Given the description of an element on the screen output the (x, y) to click on. 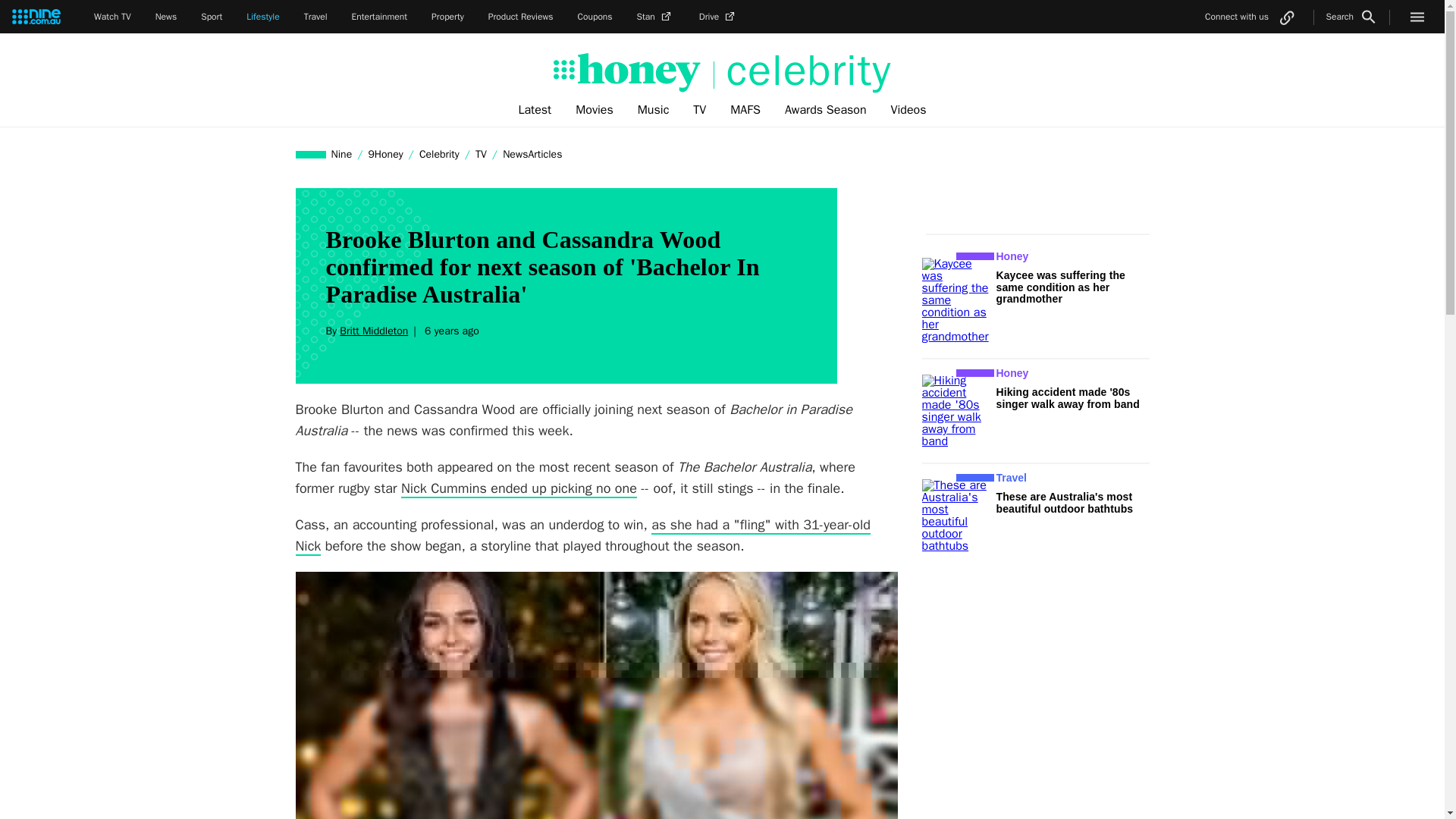
Lifestyle (262, 16)
Music (653, 109)
as she had a  "fling" with 31-year-old Nick (582, 536)
Nick Cummins (443, 488)
ended up picking no one (561, 488)
Britt Middleton (373, 330)
MAFS (745, 109)
NewsArticles (532, 154)
Awards Season (826, 109)
Product Reviews (520, 16)
